Given the description of an element on the screen output the (x, y) to click on. 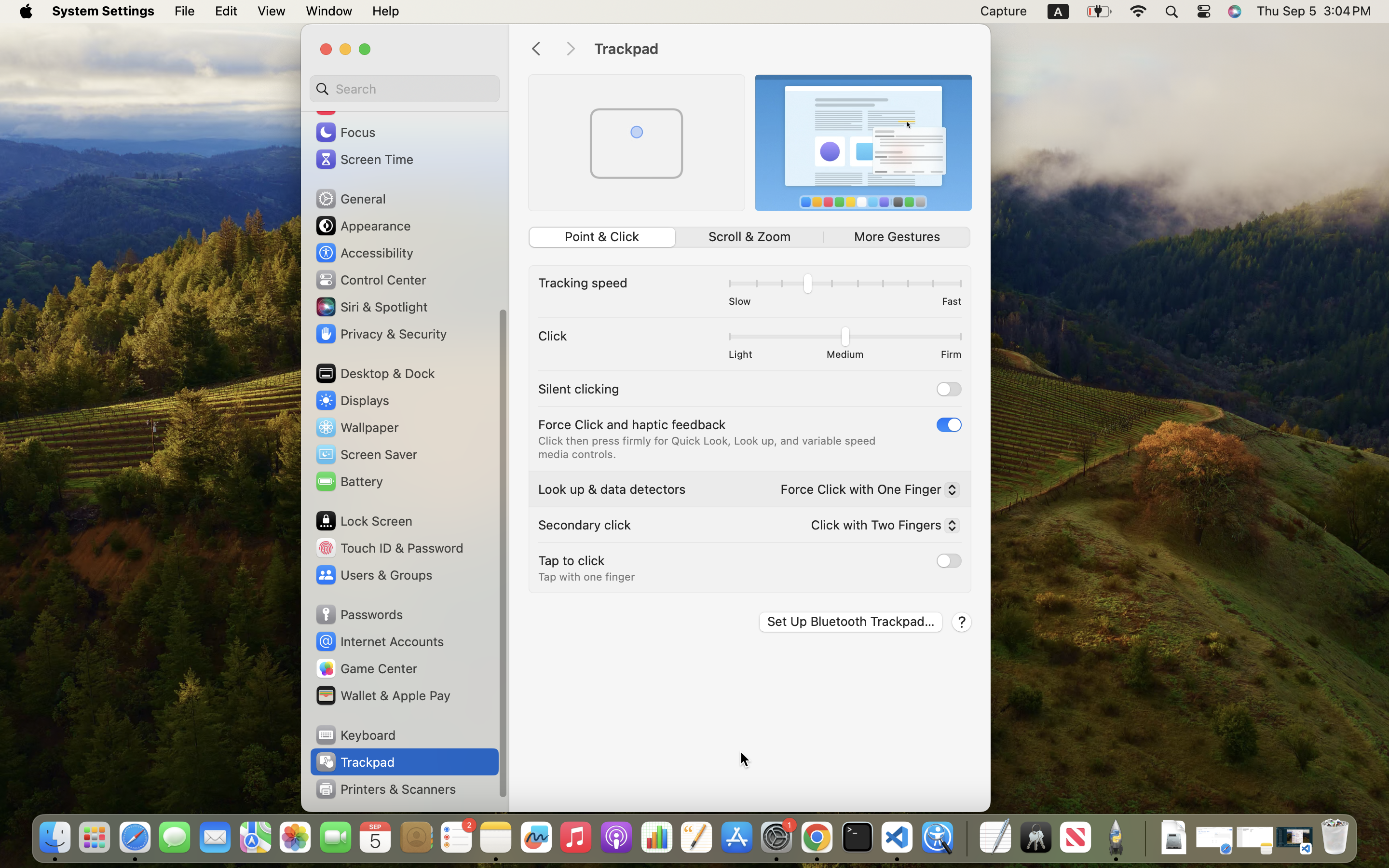
General Element type: AXStaticText (349, 198)
Siri & Spotlight Element type: AXStaticText (370, 306)
<AXUIElement 0x16cd21c50> {pid=3099} Element type: AXTabGroup (749, 236)
Focus Element type: AXStaticText (344, 131)
